Given the description of an element on the screen output the (x, y) to click on. 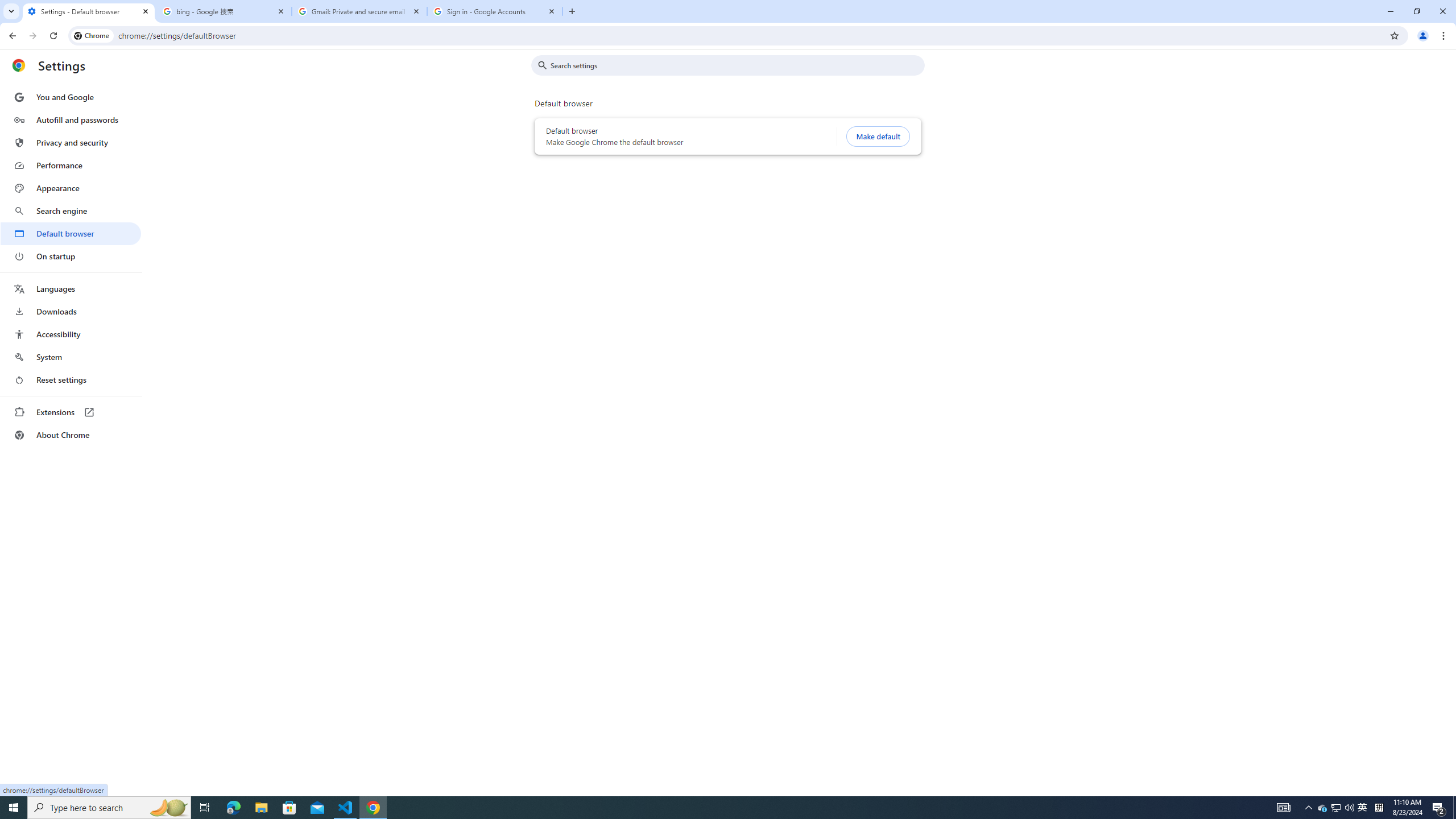
Downloads (70, 311)
Search settings (735, 65)
Autofill and passwords (70, 119)
On startup (70, 255)
